Given the description of an element on the screen output the (x, y) to click on. 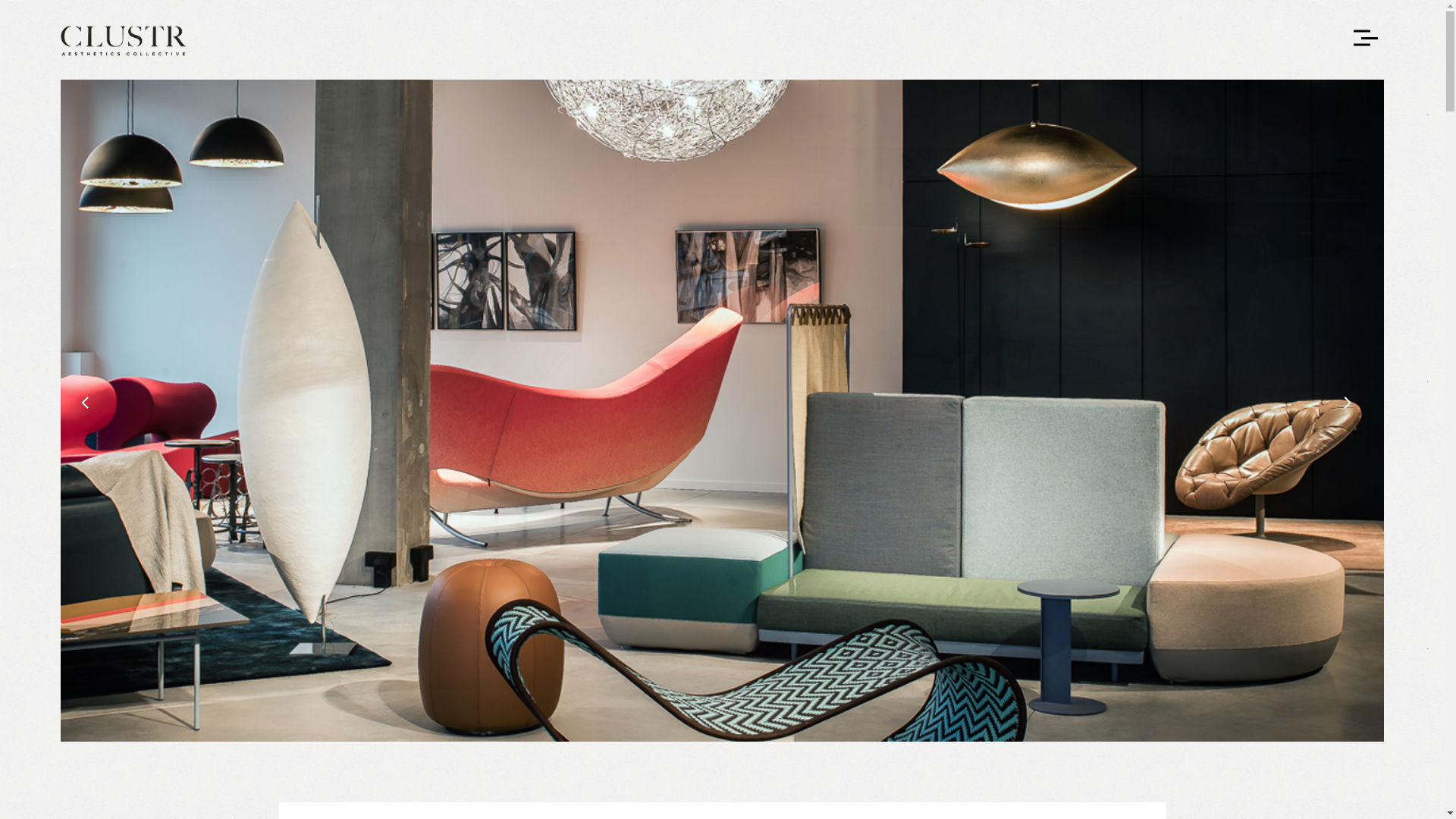
Next Element type: text (1353, 407)
Prev Element type: text (90, 407)
